Given the description of an element on the screen output the (x, y) to click on. 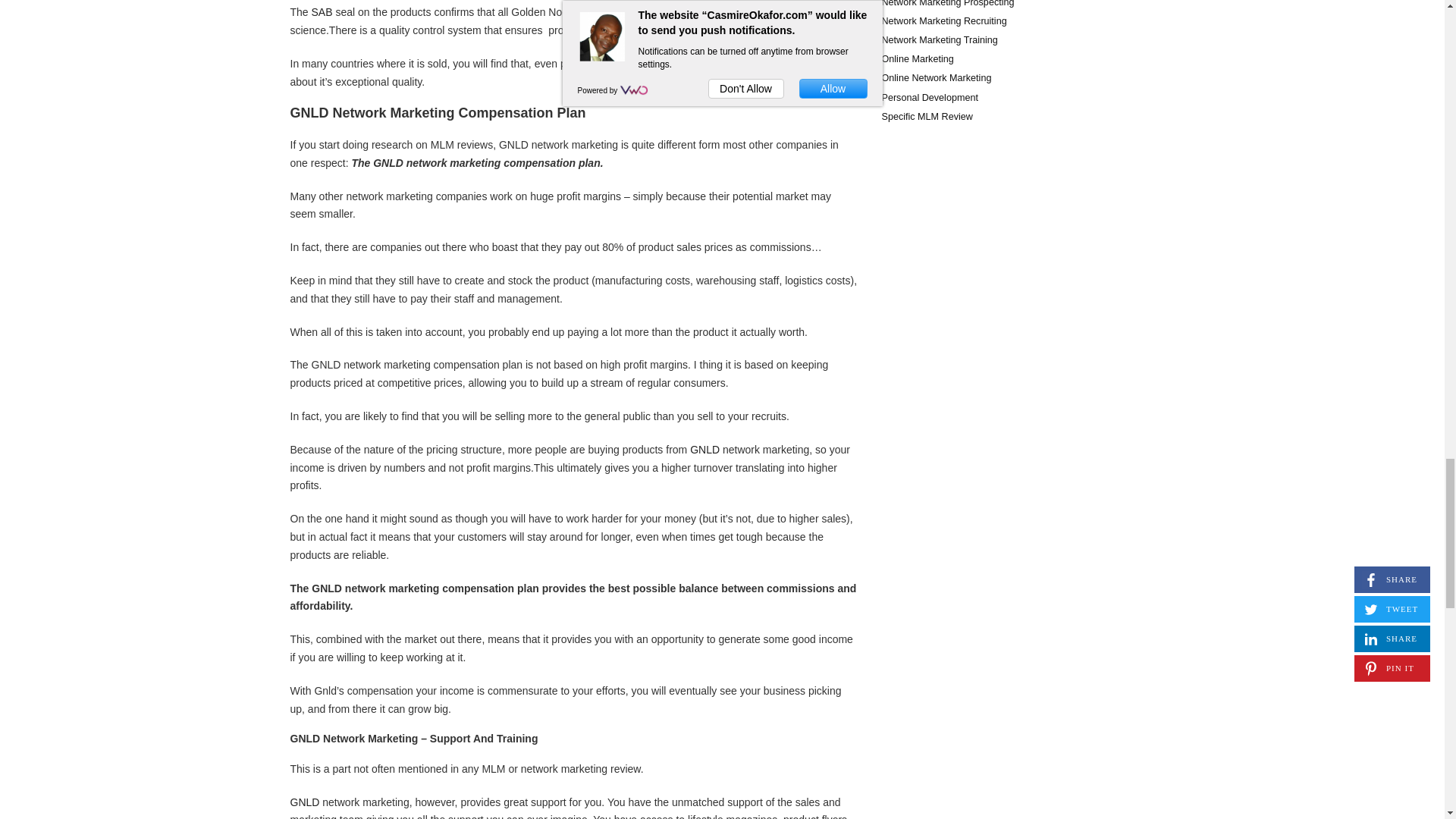
SAB (322, 11)
GNLD (303, 802)
GNLD (704, 449)
